Given the description of an element on the screen output the (x, y) to click on. 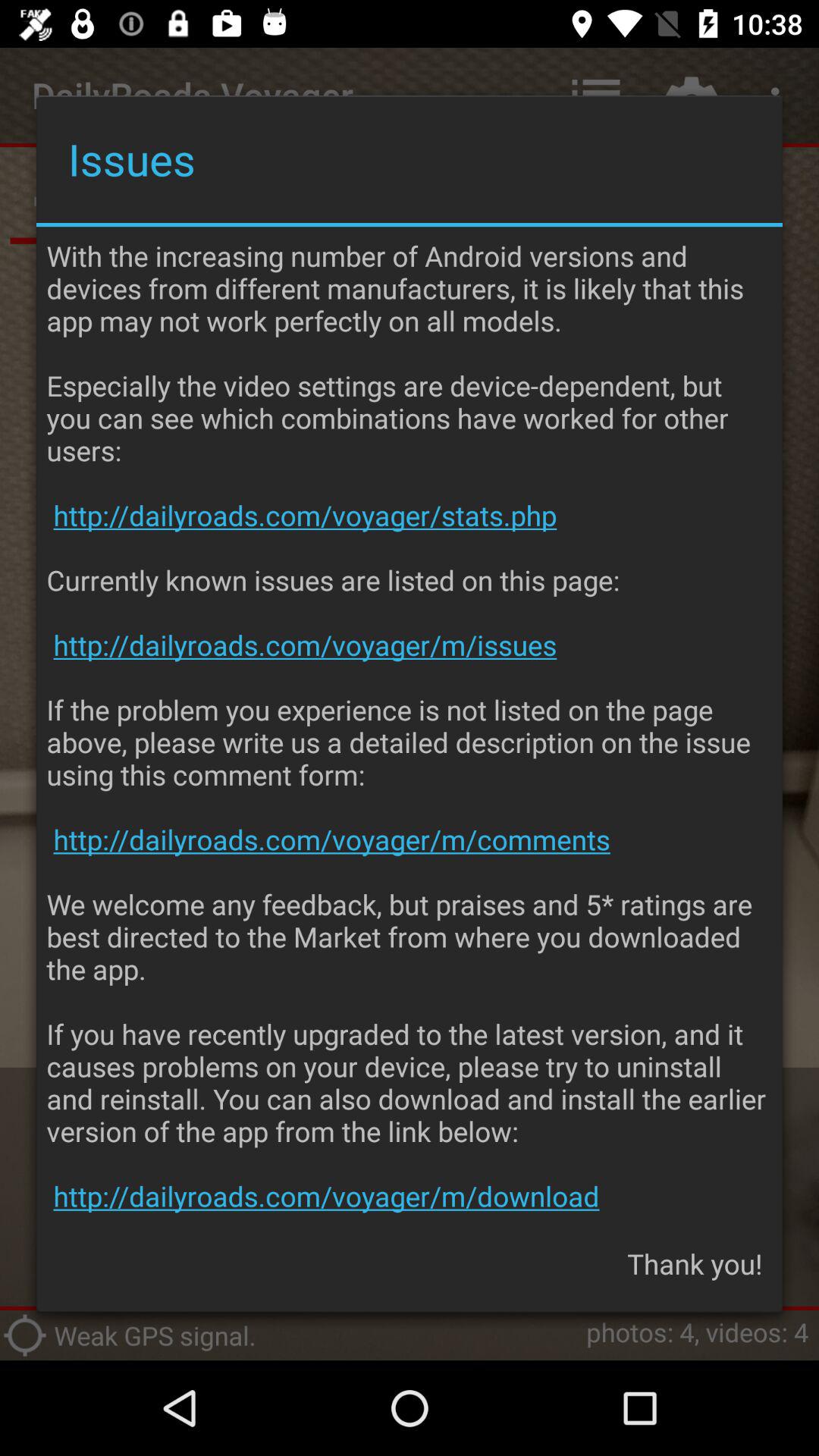
tap the item above thank you! item (409, 725)
